Given the description of an element on the screen output the (x, y) to click on. 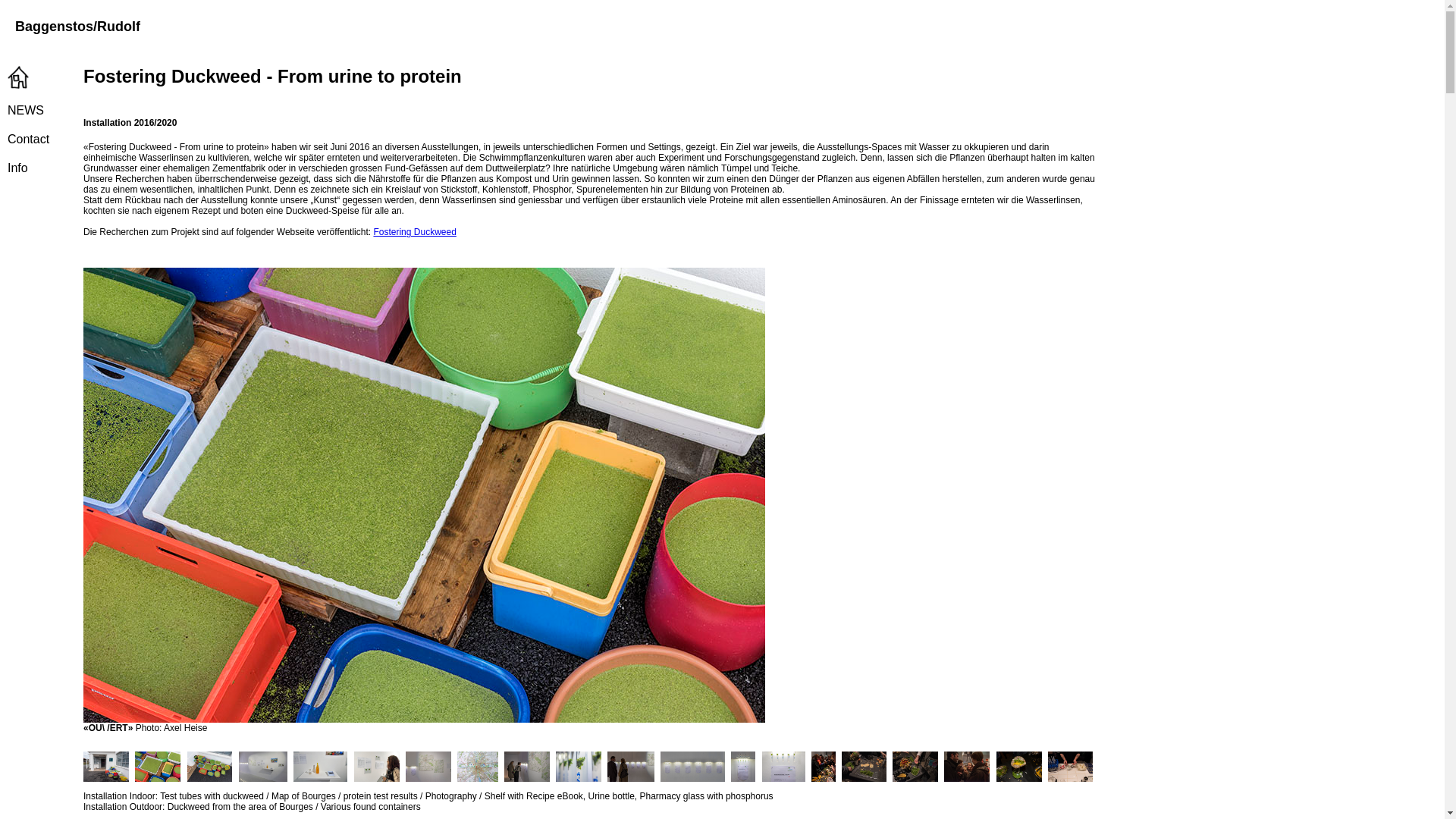
Contact Element type: text (28, 139)
NEWS Element type: text (25, 110)
Info Element type: text (17, 168)
Fostering Duckweed Element type: text (414, 231)
